Given the description of an element on the screen output the (x, y) to click on. 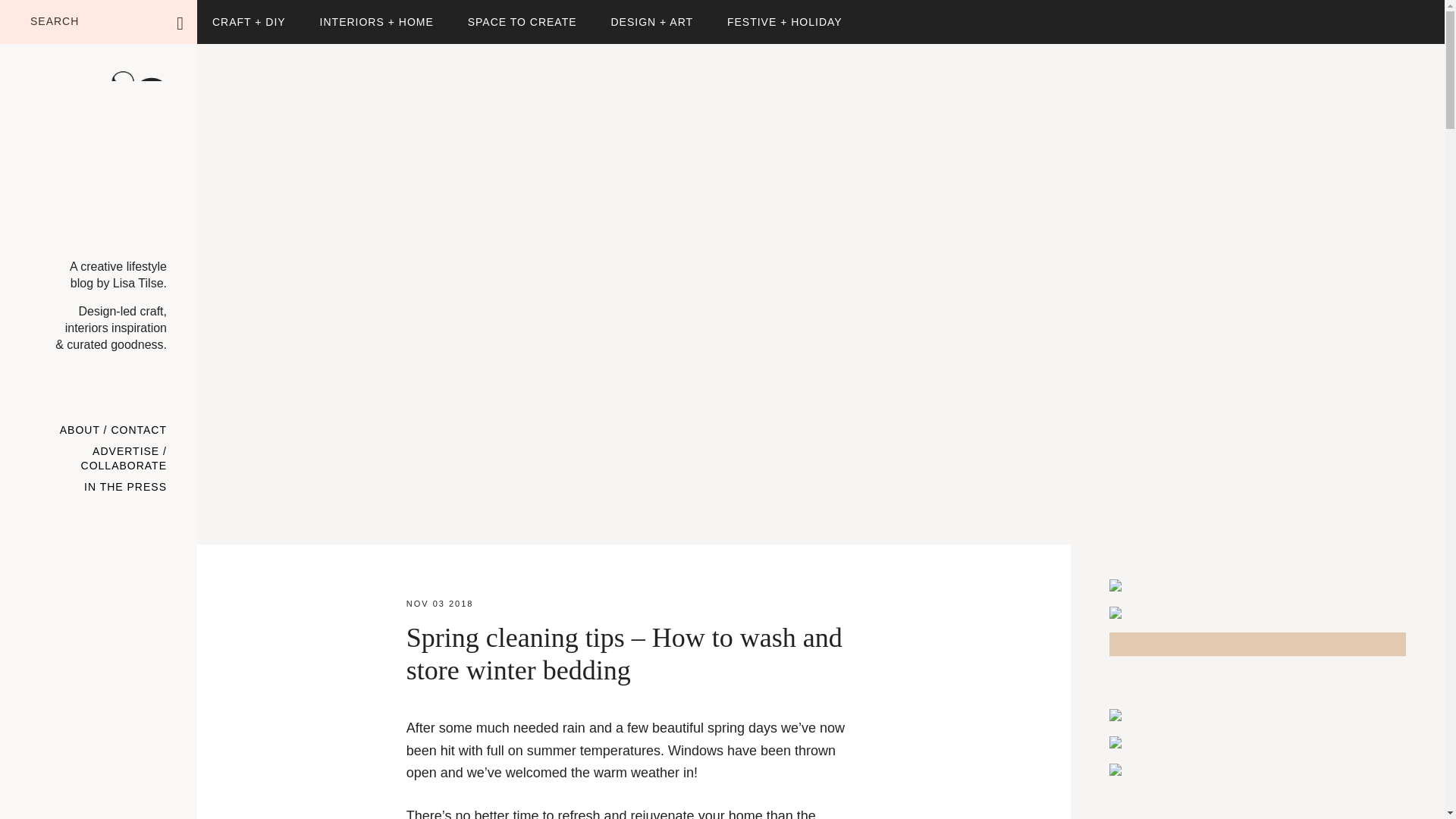
Search (228, 13)
CONTACT (138, 430)
SPACE TO CREATE (522, 22)
Search (228, 13)
